Given the description of an element on the screen output the (x, y) to click on. 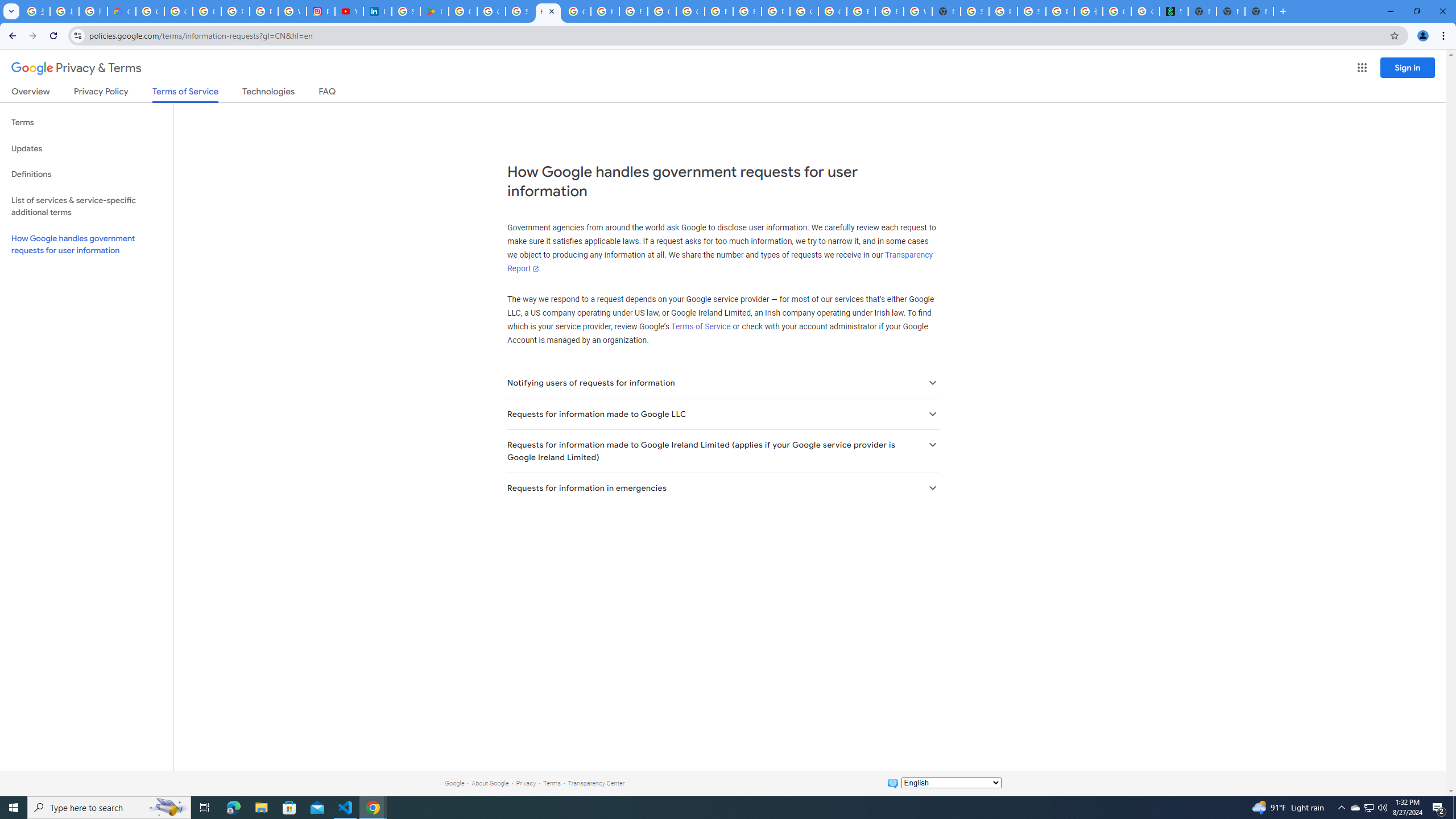
How do I create a new Google Account? - Google Account Help (604, 11)
YouTube Culture & Trends - On The Rise: Handcam Videos (349, 11)
New Tab (1259, 11)
